Given the description of an element on the screen output the (x, y) to click on. 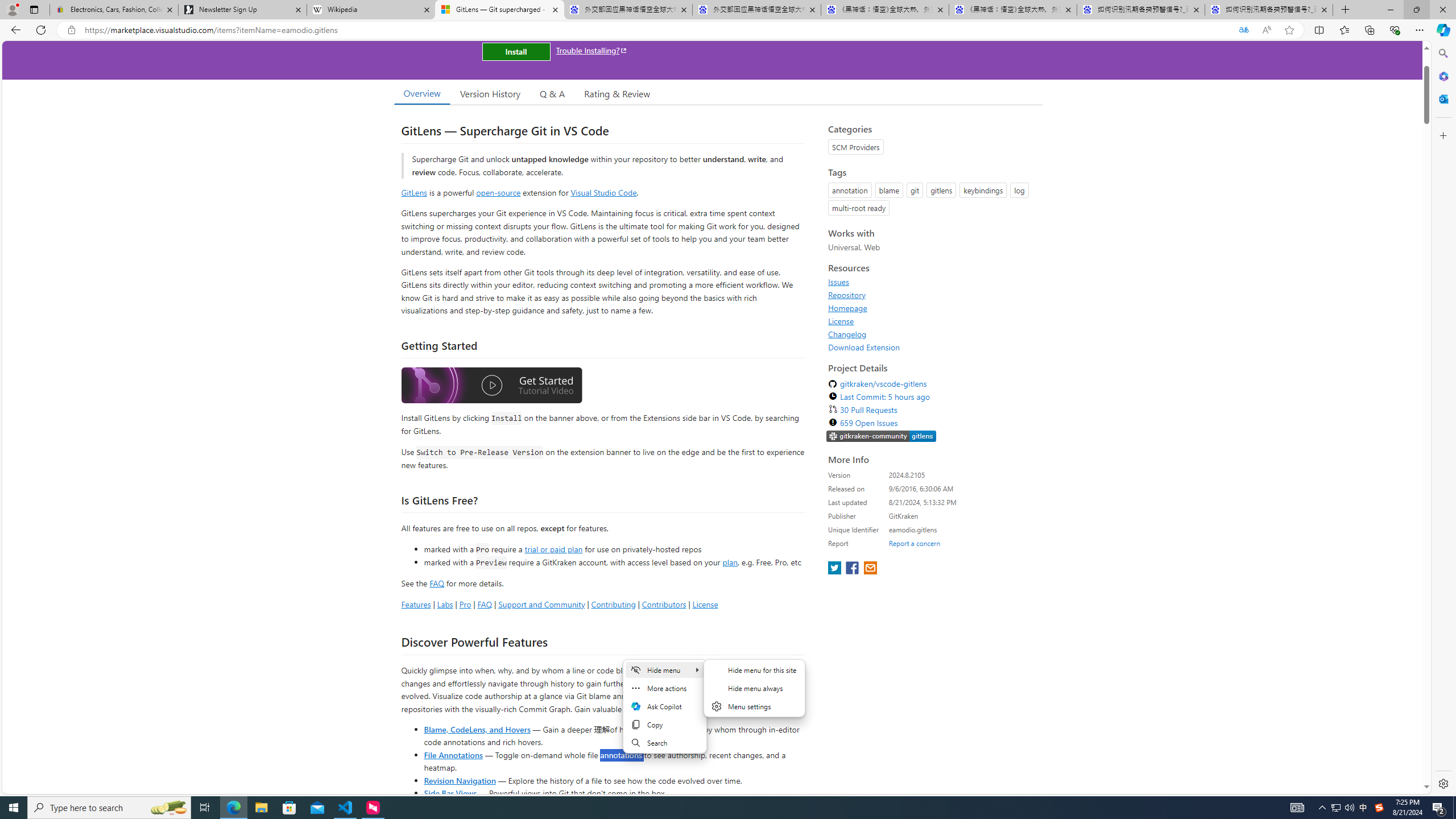
Watch the GitLens Getting Started video (491, 387)
Labs (444, 603)
Report a concern (914, 542)
Q & A (552, 92)
Support and Community (541, 603)
open-source (498, 192)
Repository (847, 294)
Install (515, 51)
Contributors (663, 603)
